Given the description of an element on the screen output the (x, y) to click on. 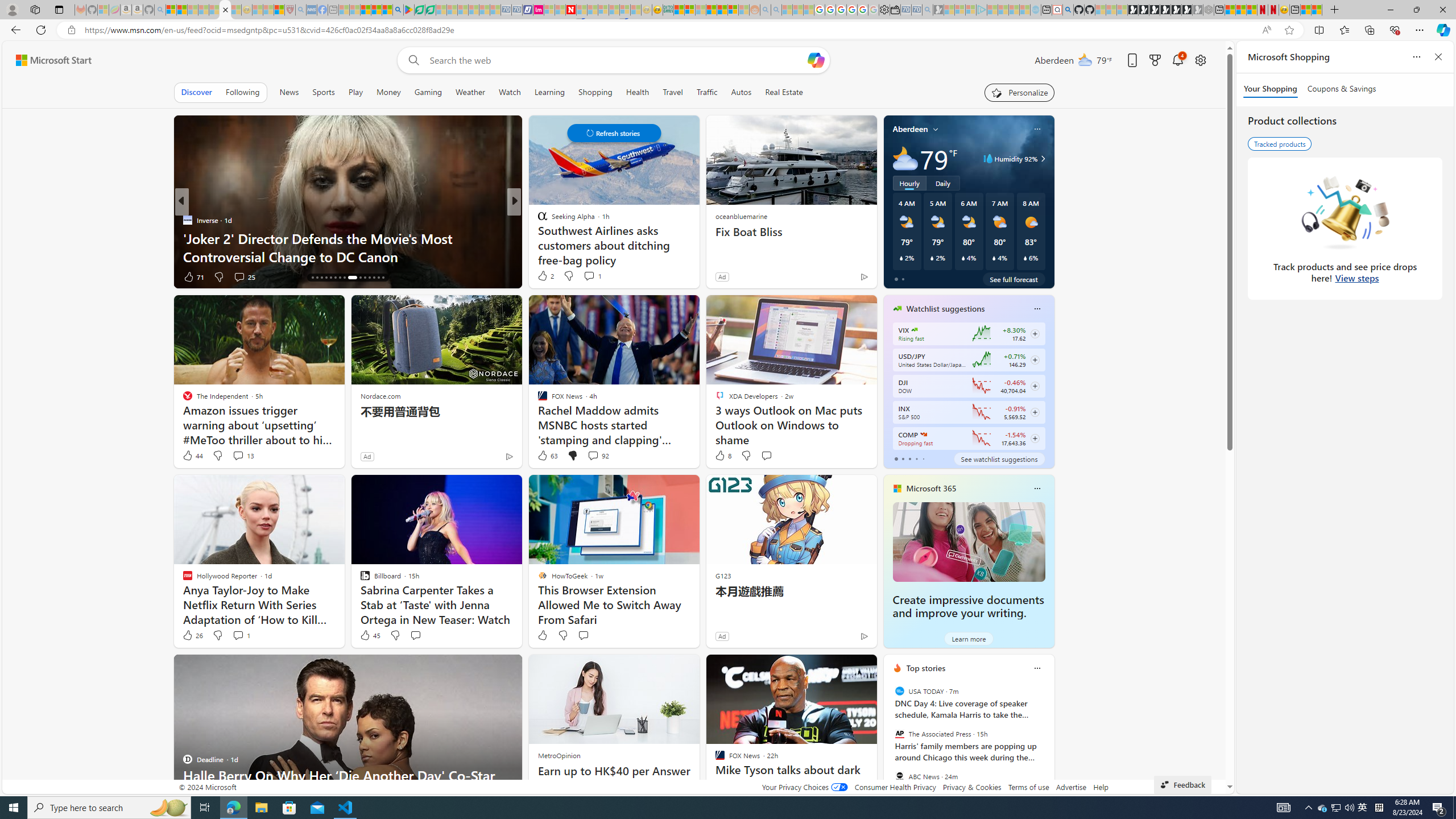
google - Search (397, 9)
The Weather Channel - MSN - Sleeping (192, 9)
The Associated Press (898, 733)
Traffic (706, 92)
Autos (740, 92)
AutomationID: tab-24 (348, 277)
Travel (672, 92)
